Given the description of an element on the screen output the (x, y) to click on. 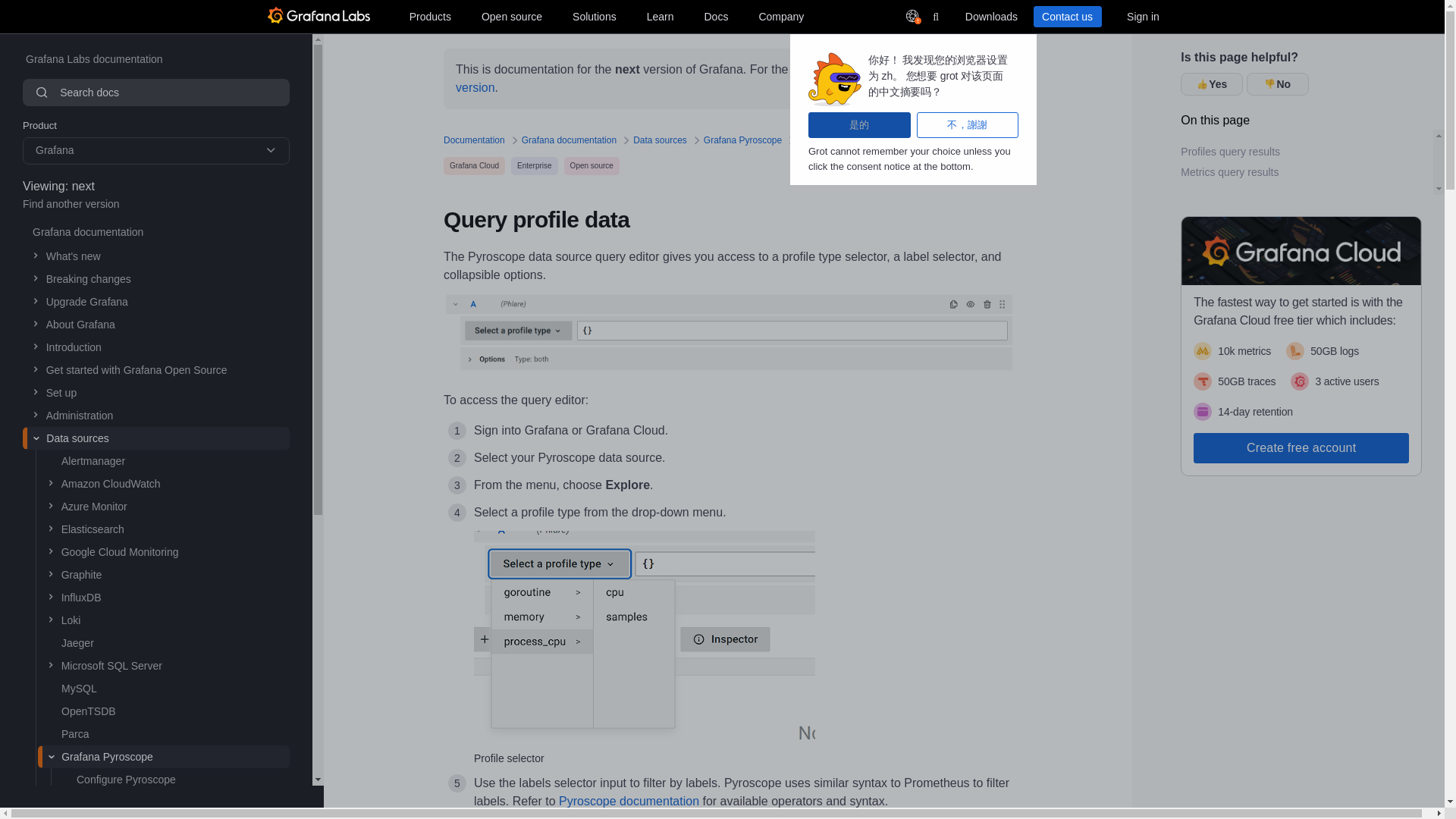
Company (780, 16)
Contact us (1066, 16)
Profile selector (644, 636)
Open source (512, 16)
Sign in (1312, 161)
Downloads (1142, 16)
Learn (990, 16)
Docs (660, 16)
Products (715, 16)
Solutions (429, 16)
